Given the description of an element on the screen output the (x, y) to click on. 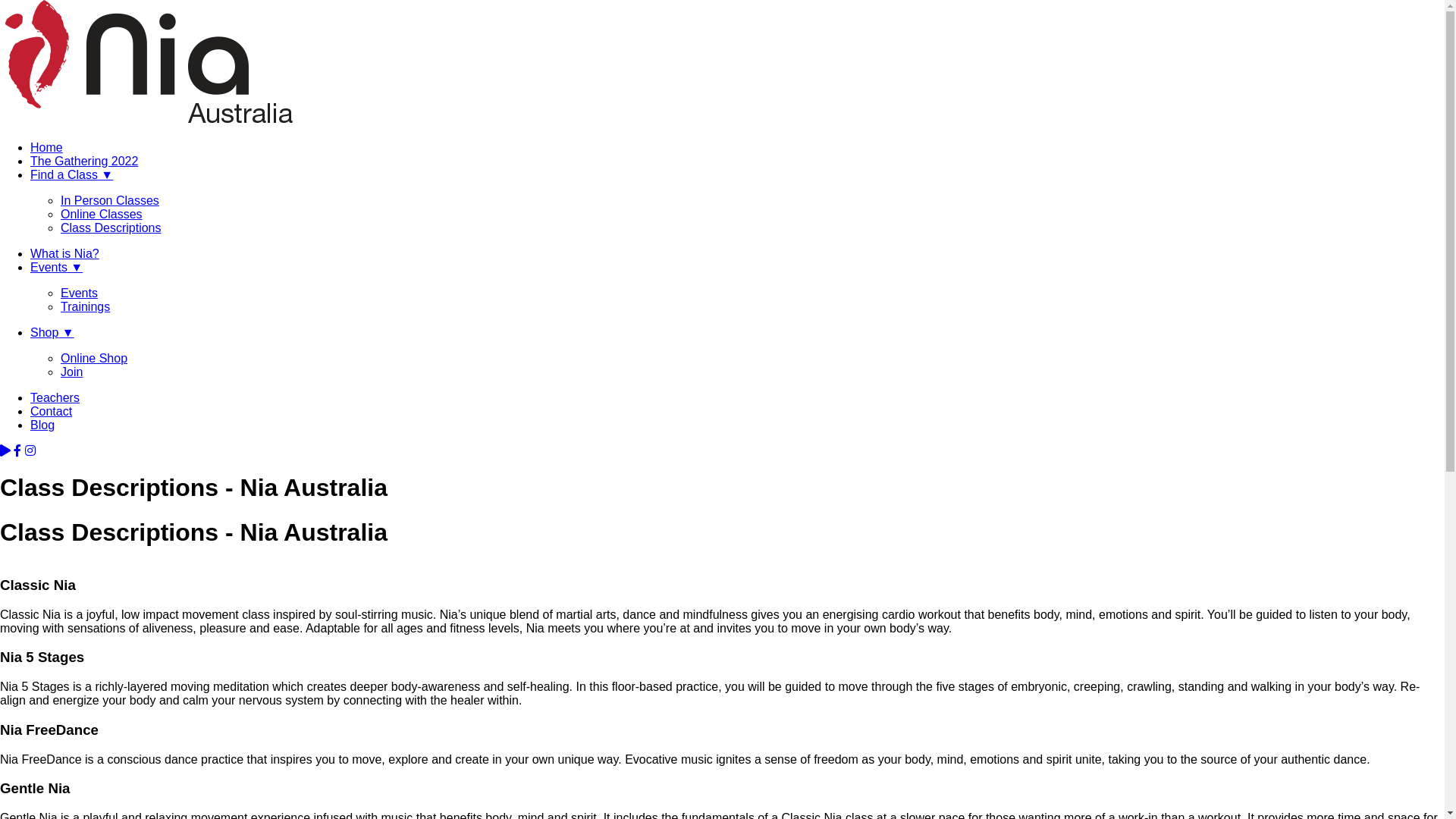
Online Classes Element type: text (101, 213)
Events Element type: text (78, 292)
Contact Element type: text (51, 410)
Blog Element type: text (42, 424)
Home Element type: text (46, 147)
Class Descriptions Element type: text (110, 227)
Join Element type: text (71, 371)
Teachers Element type: text (54, 397)
Online Shop Element type: text (93, 357)
The Gathering 2022 Element type: text (84, 160)
In Person Classes Element type: text (109, 200)
Trainings Element type: text (84, 306)
What is Nia? Element type: text (64, 253)
